Given the description of an element on the screen output the (x, y) to click on. 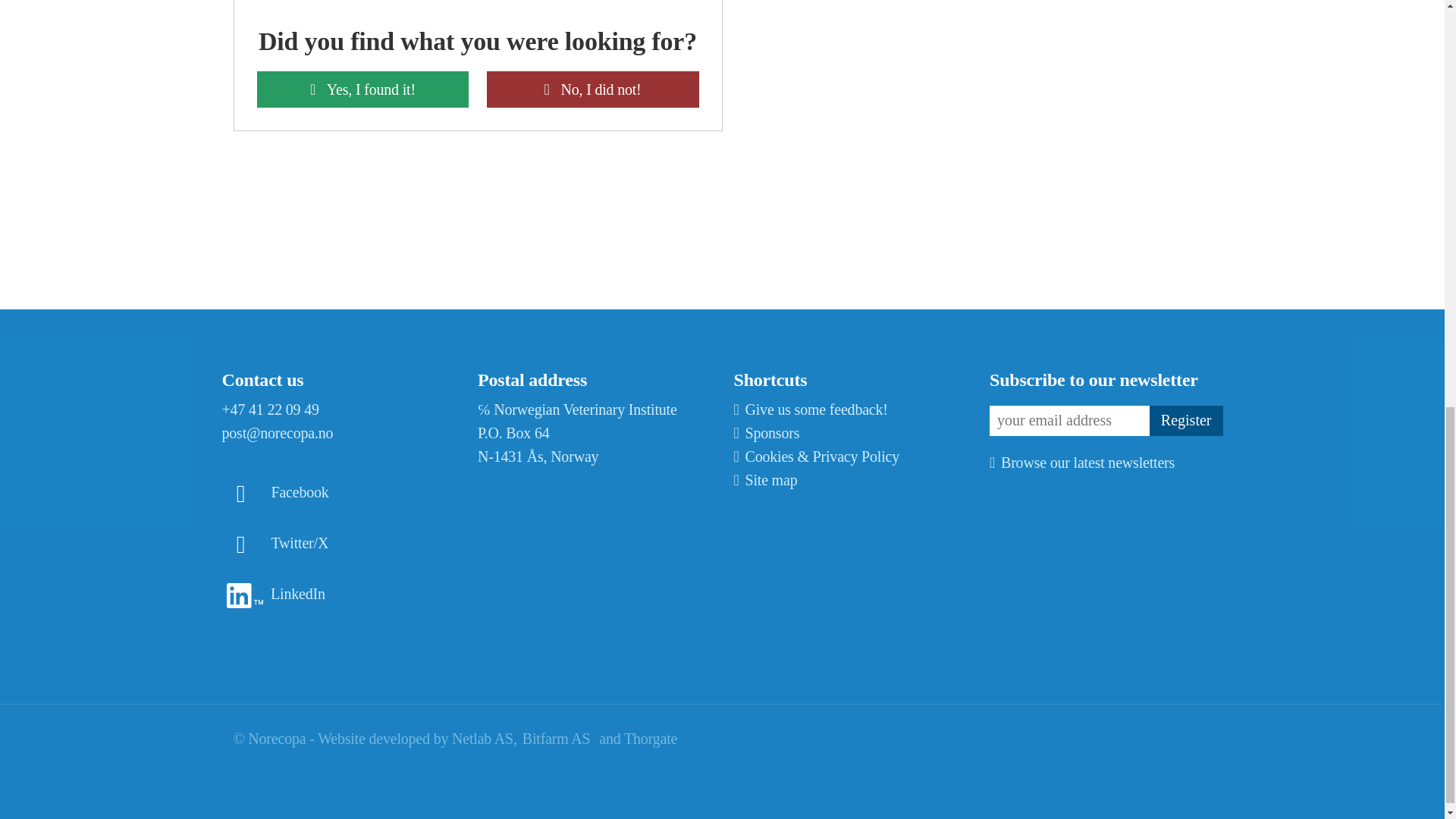
Subscribe (1186, 420)
Cookies (821, 456)
Sponsors (771, 434)
Sitemap (770, 480)
